Given the description of an element on the screen output the (x, y) to click on. 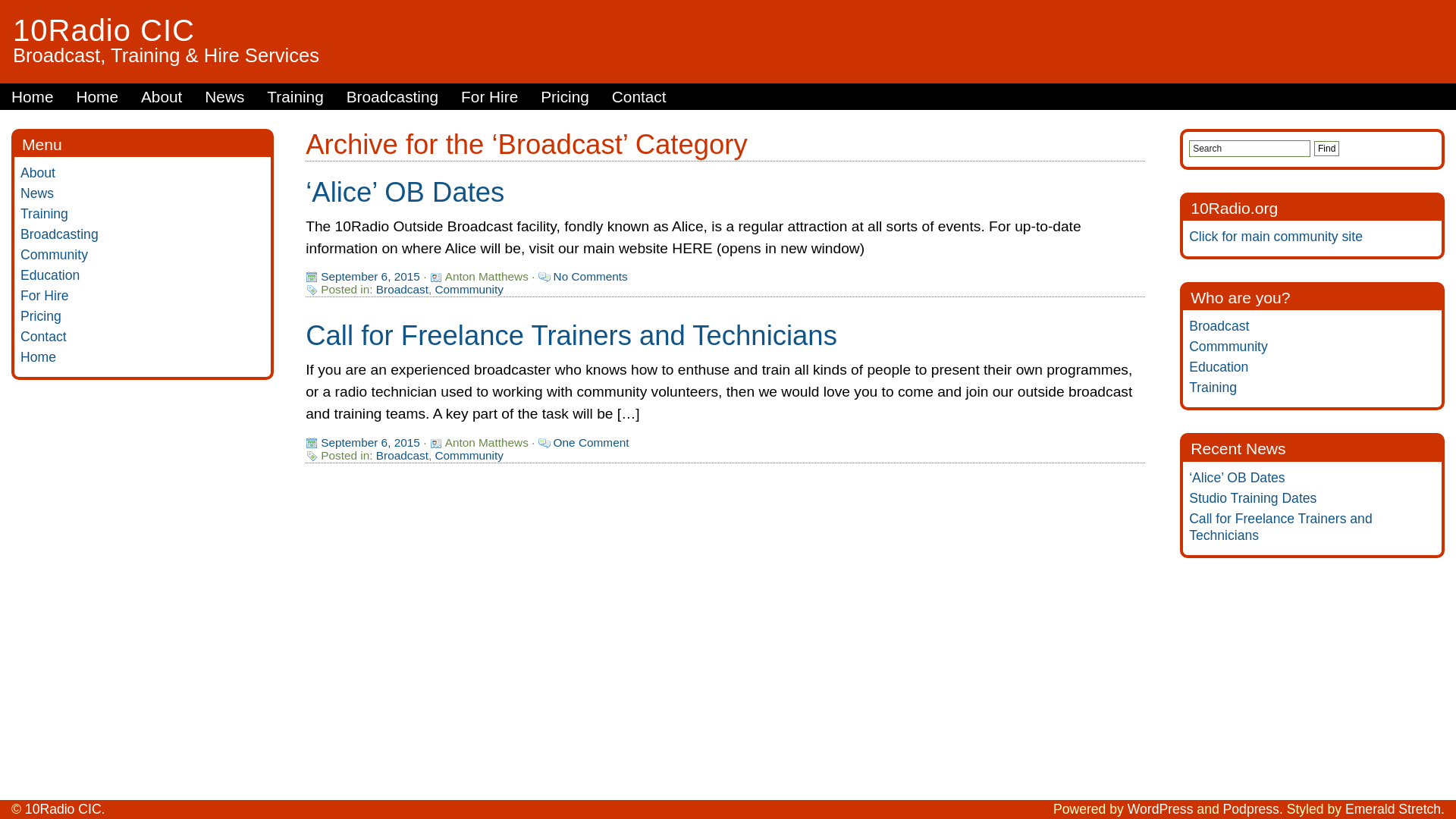
Home Element type: text (32, 96)
Home Element type: text (96, 96)
WordPress Element type: text (1160, 808)
Home Element type: text (38, 356)
Emerald Stretch Element type: text (1392, 808)
About Element type: text (161, 96)
News Element type: text (224, 96)
Broadcast, Training & Hire Services Element type: text (165, 54)
September 6, 2015 Element type: text (370, 442)
One Comment Element type: text (591, 442)
Call for Freelance Trainers and Technicians Element type: text (1280, 526)
Training Element type: text (44, 213)
10Radio CIC Element type: text (103, 30)
About Element type: text (37, 172)
Community Element type: text (53, 254)
Broadcasting Element type: text (392, 96)
September 6, 2015 Element type: text (370, 275)
10Radio CIC Element type: text (63, 808)
News Element type: text (36, 192)
Studio Training Dates Element type: text (1252, 497)
Podpress Element type: text (1251, 808)
For Hire Element type: text (489, 96)
Commmunity Element type: text (1228, 346)
Broadcast Element type: text (402, 454)
No Comments Element type: text (590, 275)
Contact Element type: text (43, 336)
Broadcast Element type: text (402, 288)
Commmunity Element type: text (468, 454)
Broadcast Element type: text (1218, 325)
Call for Freelance Trainers and Technicians Element type: text (571, 335)
Find Element type: text (1326, 148)
Education Element type: text (49, 274)
For Hire Element type: text (44, 295)
Education Element type: text (1218, 366)
Training Element type: text (294, 96)
Broadcasting Element type: text (59, 233)
Commmunity Element type: text (468, 288)
Pricing Element type: text (564, 96)
Training Element type: text (1212, 387)
Contact Element type: text (638, 96)
Click for main community site Element type: text (1275, 236)
Pricing Element type: text (40, 315)
